Given the description of an element on the screen output the (x, y) to click on. 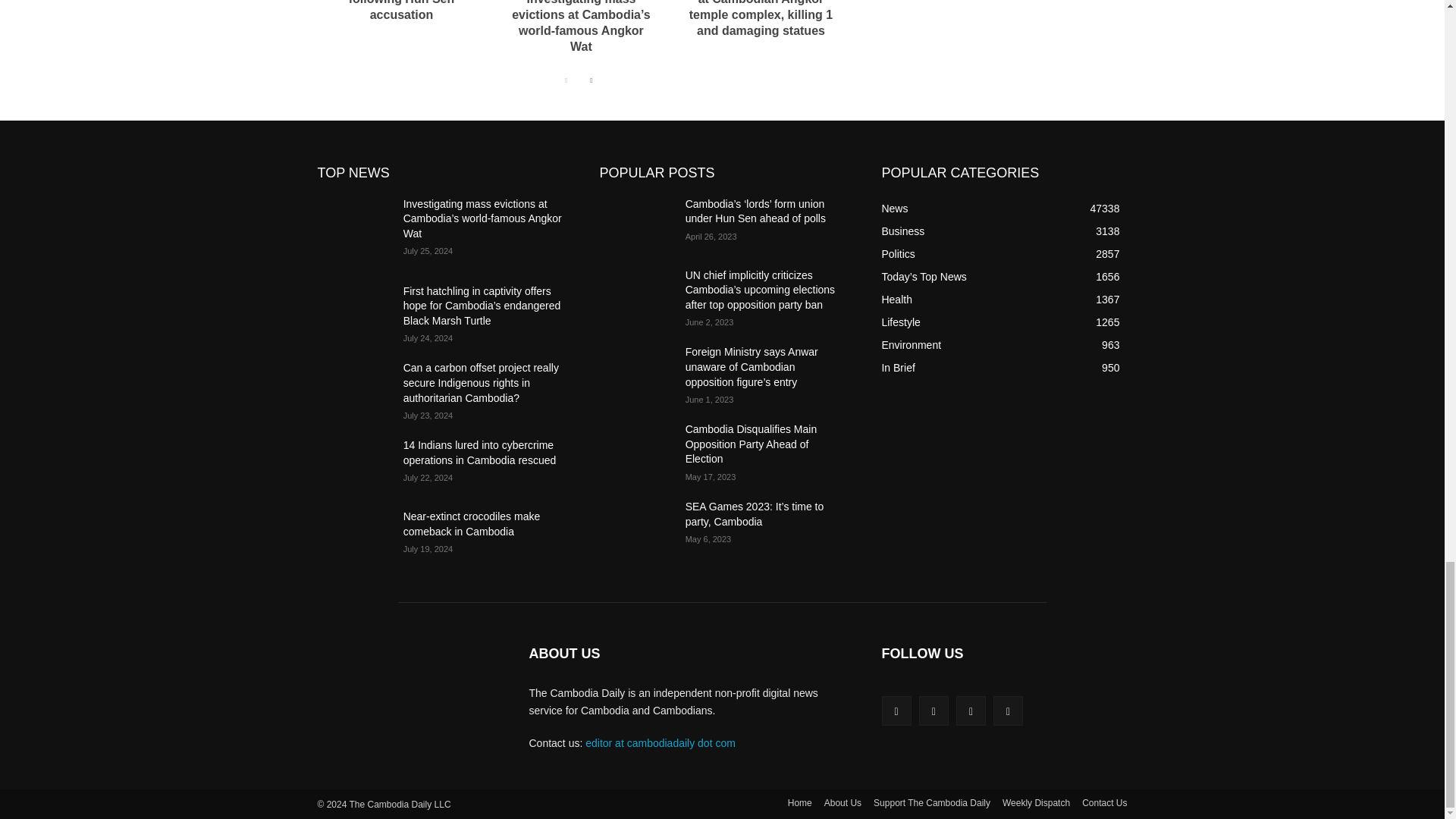
Cambodia arrests four following Hun Sen accusation (400, 10)
Cambodia arrests four following Hun Sen accusation (400, 10)
